Given the description of an element on the screen output the (x, y) to click on. 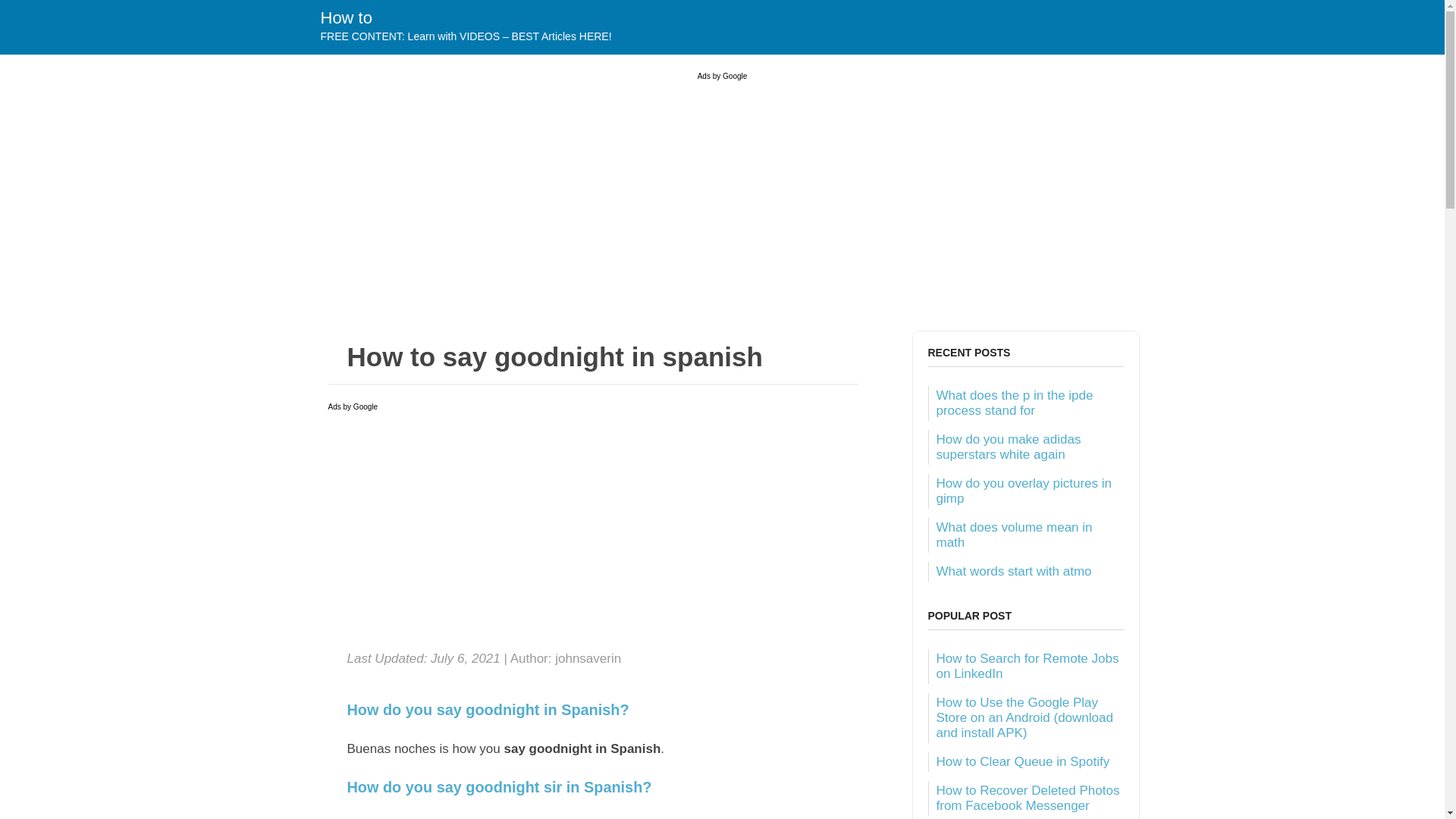
johnsaverin (587, 658)
How do you say goodnight sir in Spanish? (593, 787)
How do you say goodnight in Spanish? (593, 710)
Advertisement (593, 531)
